Given the description of an element on the screen output the (x, y) to click on. 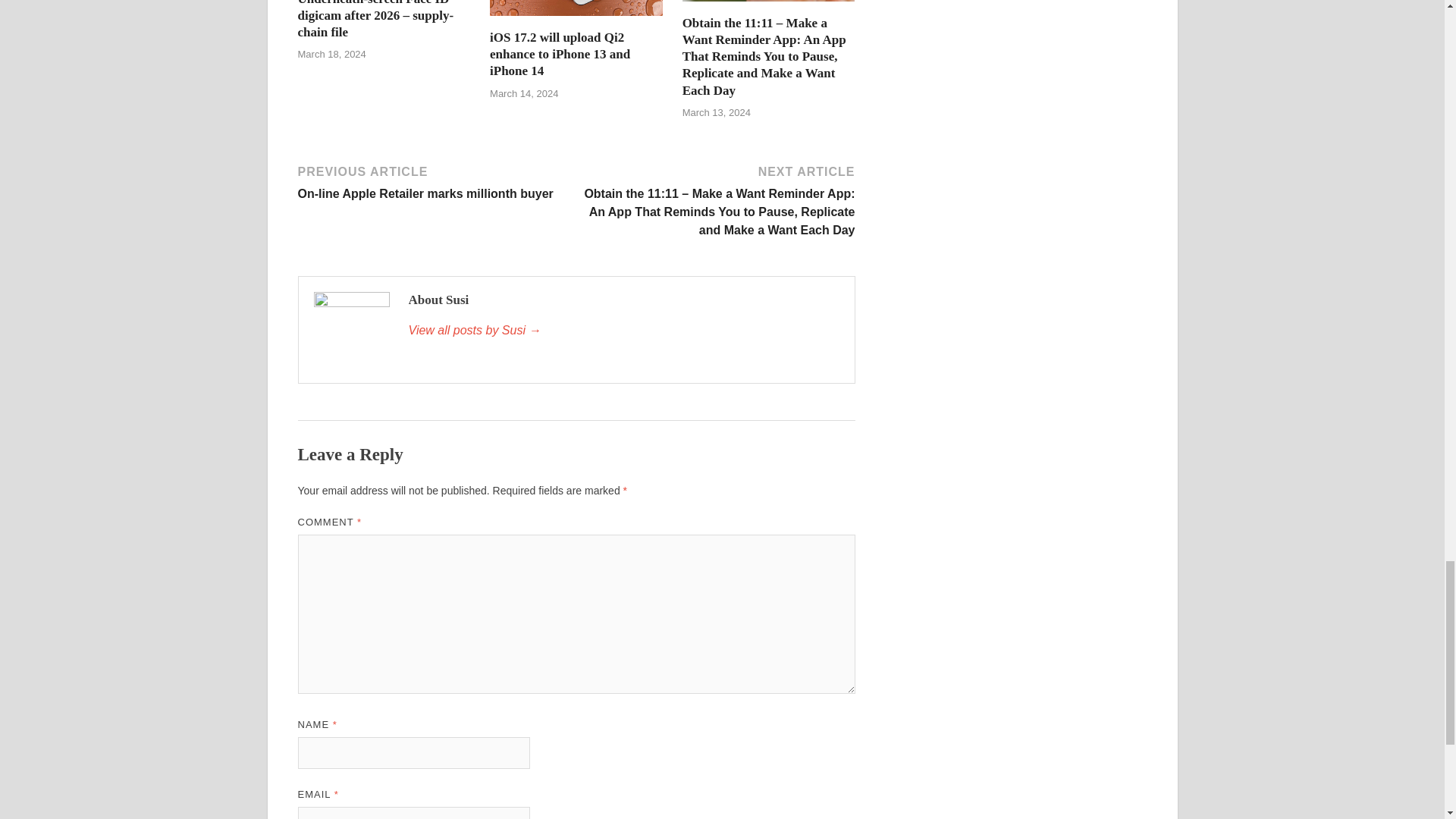
iOS 17.2 will upload Qi2 enhance to iPhone 13 and iPhone 14 (575, 19)
iOS 17.2 will upload Qi2 enhance to iPhone 13 and iPhone 14 (559, 53)
iOS 17.2 will upload Qi2 enhance to iPhone 13 and iPhone 14 (575, 7)
Susi (622, 330)
